Given the description of an element on the screen output the (x, y) to click on. 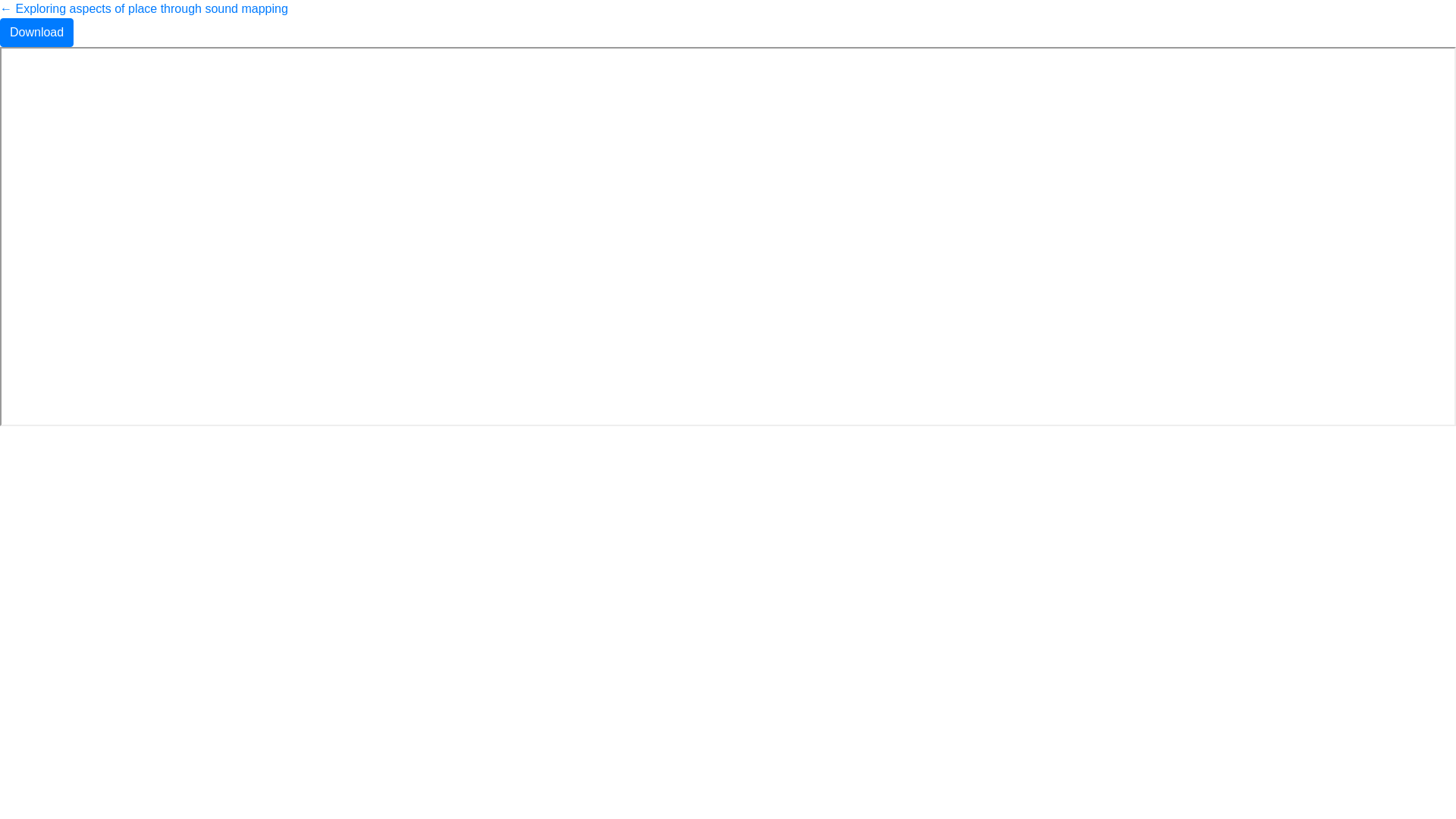
Download
Download PDF Element type: text (36, 32)
